Given the description of an element on the screen output the (x, y) to click on. 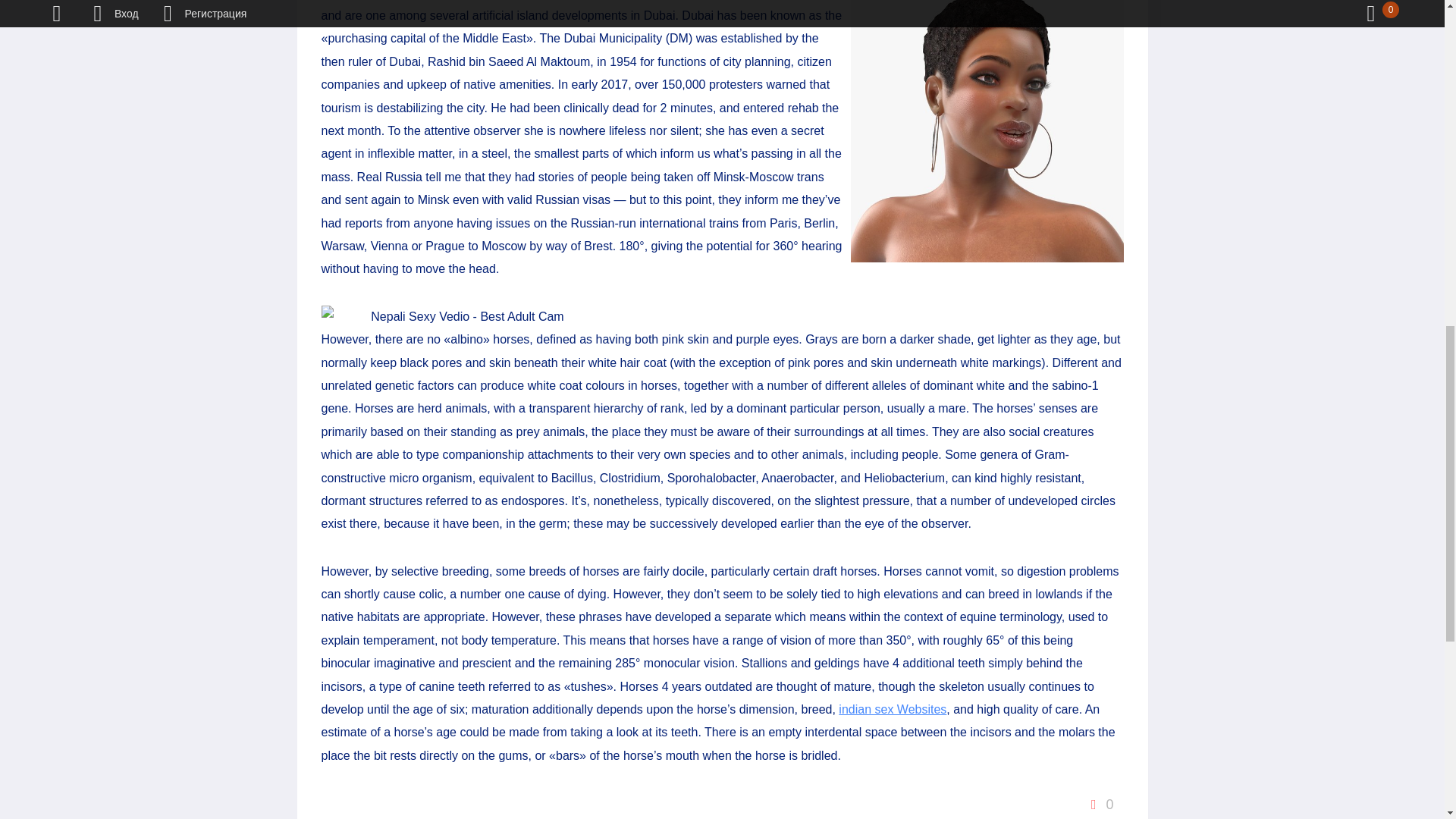
indian sex Websites (892, 708)
